Given the description of an element on the screen output the (x, y) to click on. 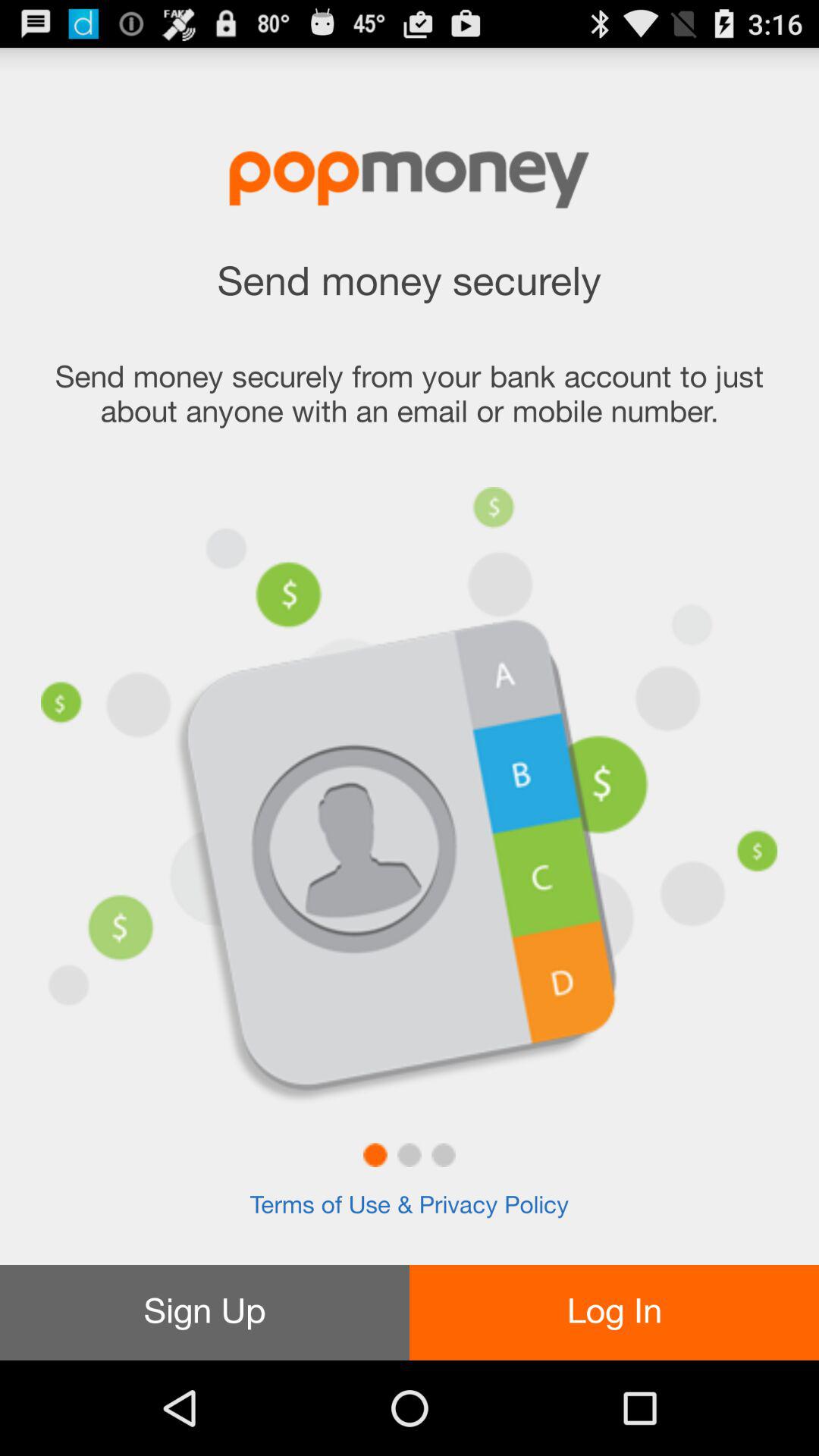
select item next to the log in item (204, 1312)
